Given the description of an element on the screen output the (x, y) to click on. 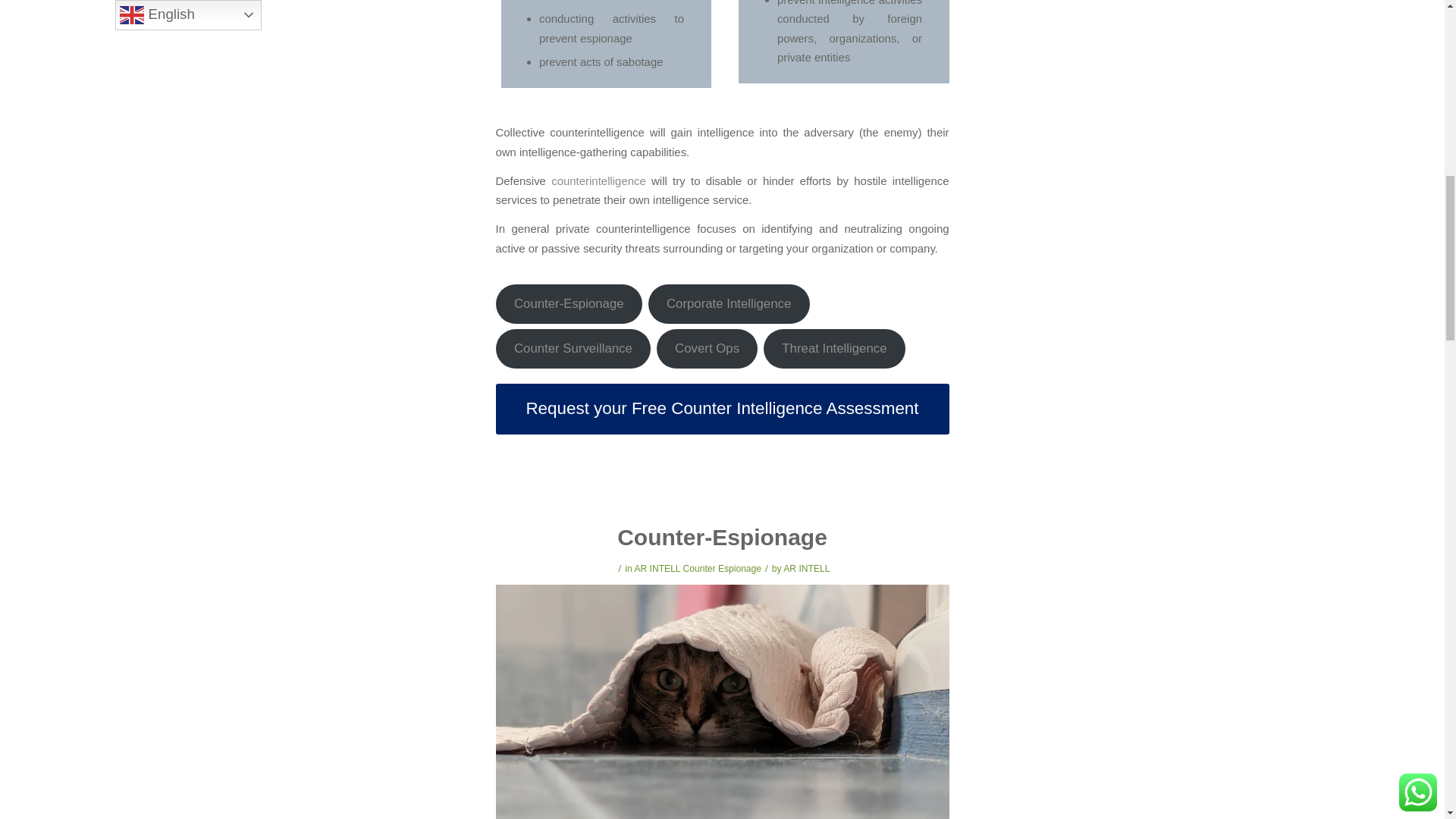
counterintelligence (600, 180)
Posts by AR INTELL (806, 568)
Permanent Link: Counter-Espionage (722, 536)
Counter Surveillance (573, 348)
Covert Ops (707, 348)
Threat Intelligence (833, 348)
Corporate Intelligence (728, 303)
Counter-Espionage (569, 303)
